Given the description of an element on the screen output the (x, y) to click on. 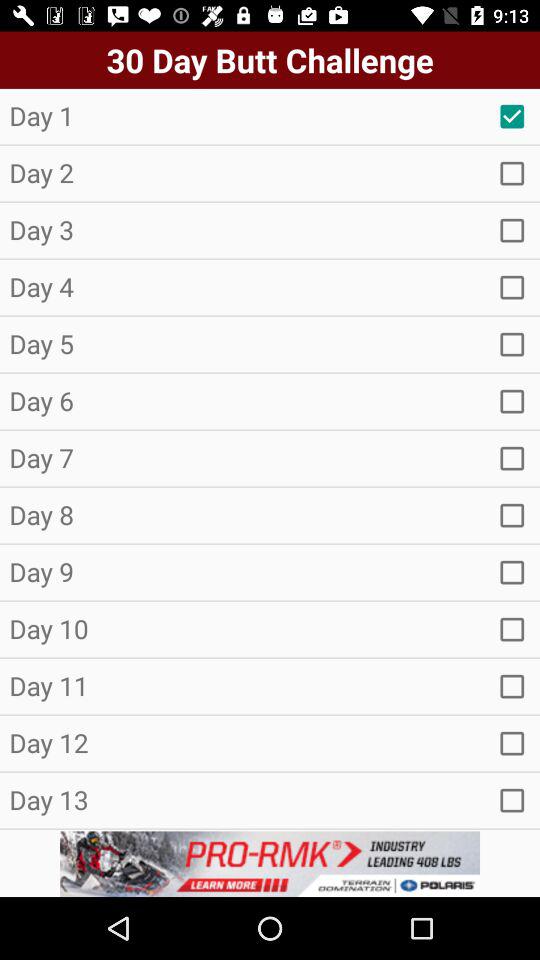
check box selection (512, 743)
